Given the description of an element on the screen output the (x, y) to click on. 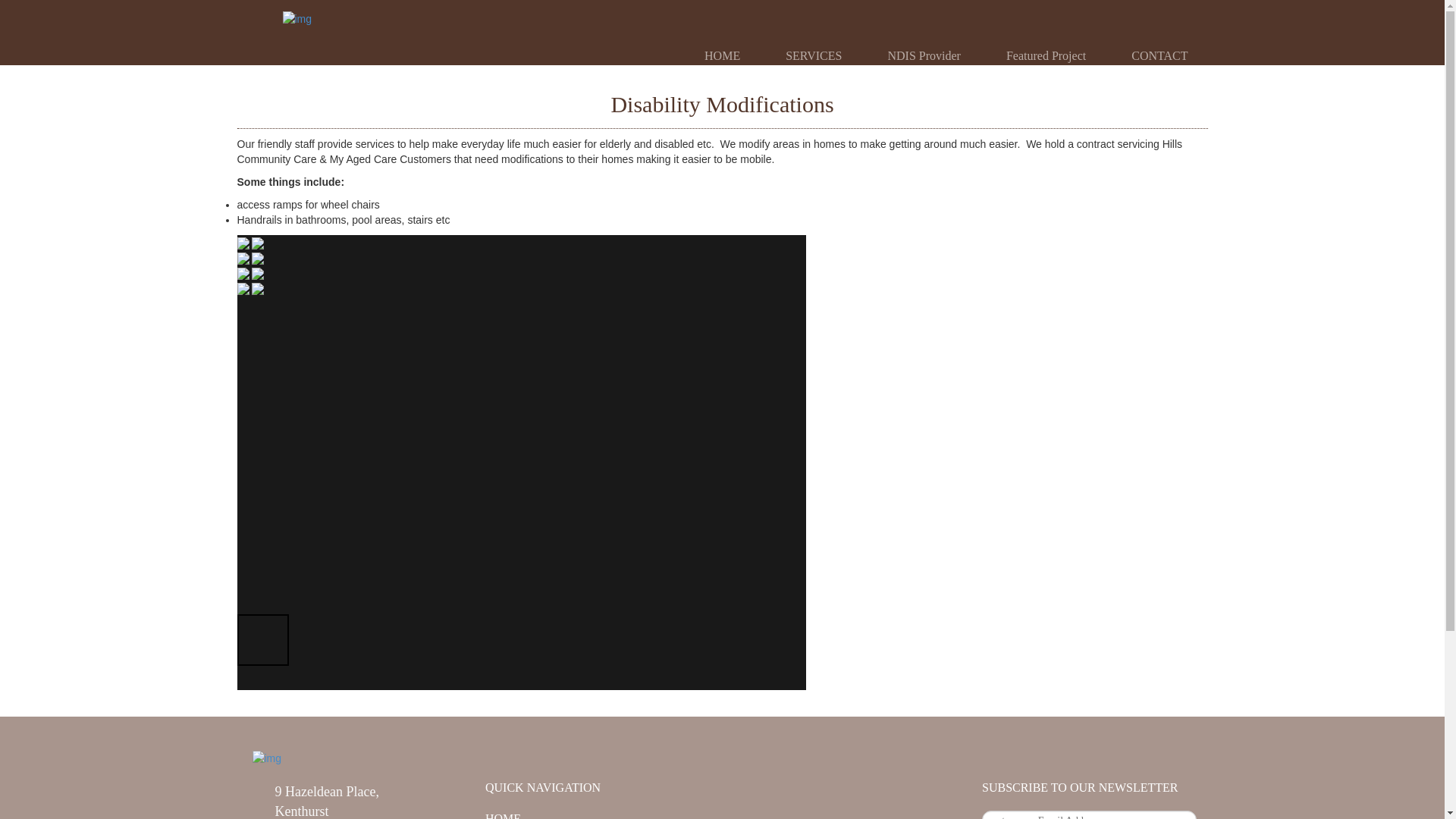
CONTACT Element type: text (1159, 56)
SERVICES Element type: text (813, 56)
HOME Element type: text (722, 56)
NDIS Provider Element type: text (923, 56)
Featured Project Element type: text (1045, 56)
